Given the description of an element on the screen output the (x, y) to click on. 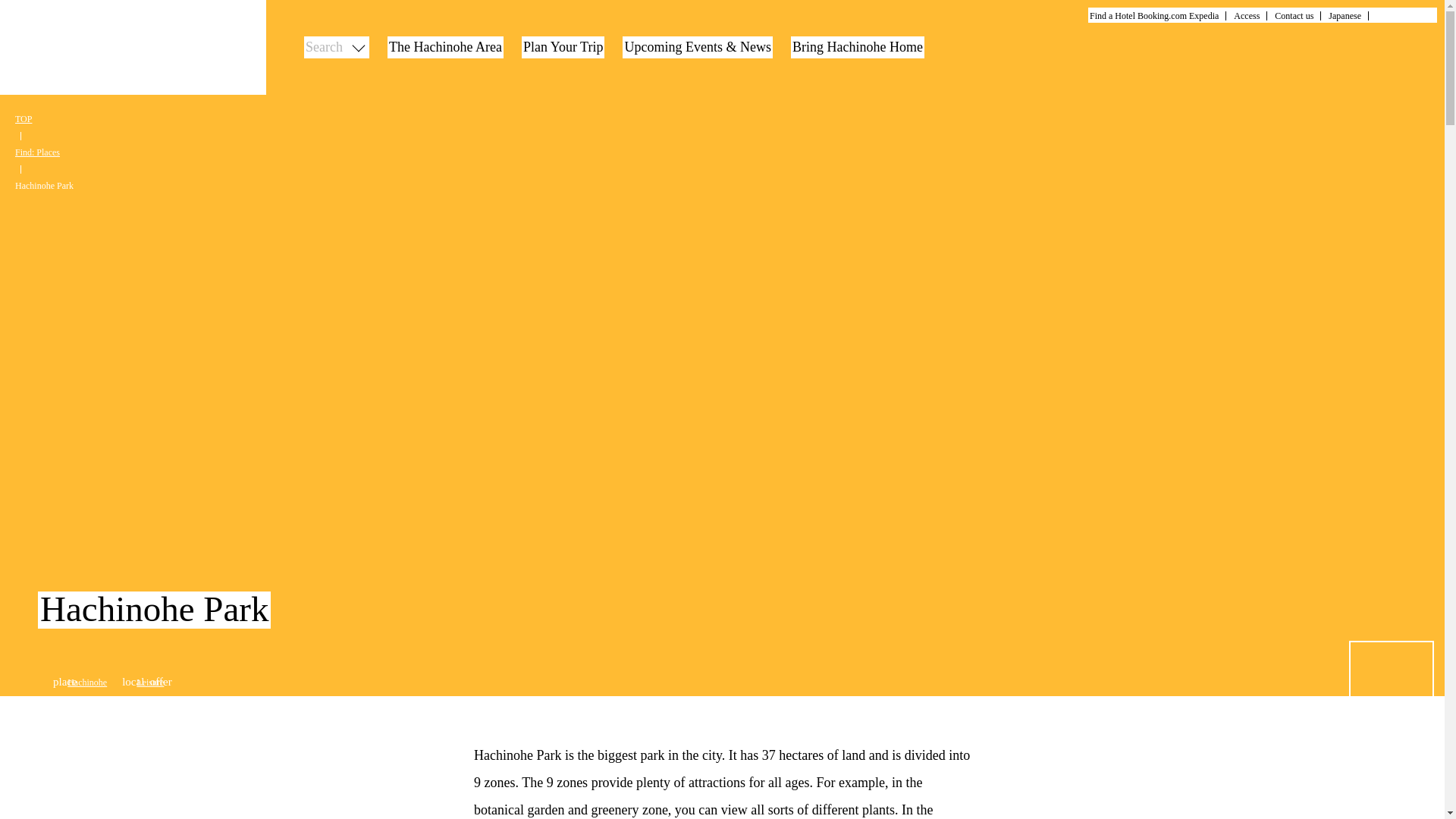
Booking.com (1161, 15)
Japanese (1344, 15)
Expedia (1203, 15)
Bring Hachinohe Home (857, 47)
Access (1246, 15)
Search (336, 47)
The Hachinohe Area (445, 47)
Plan Your Trip (563, 47)
Contact us (1294, 15)
